Given the description of an element on the screen output the (x, y) to click on. 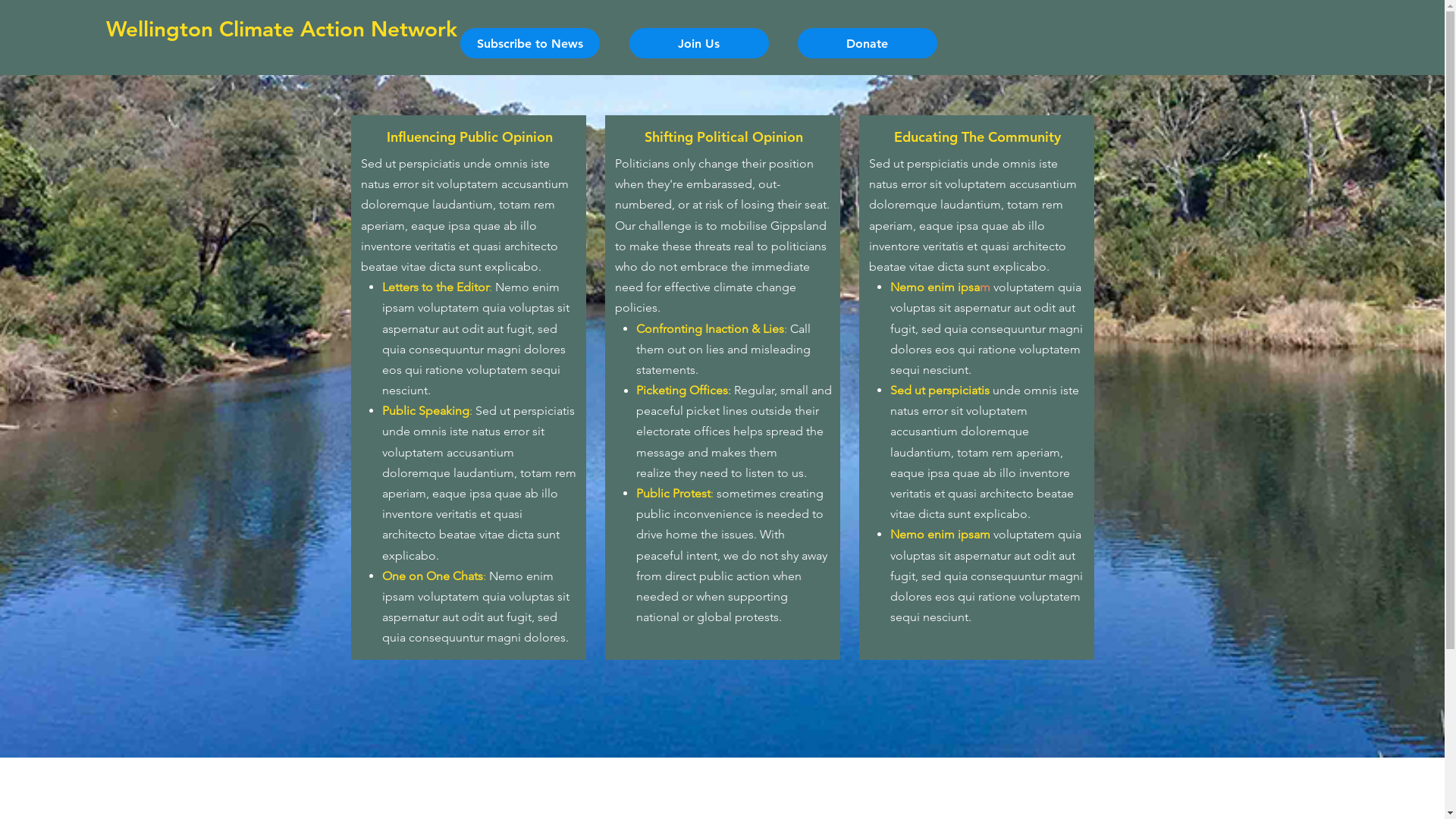
Subscribe to News Element type: text (529, 43)
Join Us Element type: text (698, 43)
Donate Element type: text (867, 43)
Donate Now > Element type: text (1345, 33)
